Given the description of an element on the screen output the (x, y) to click on. 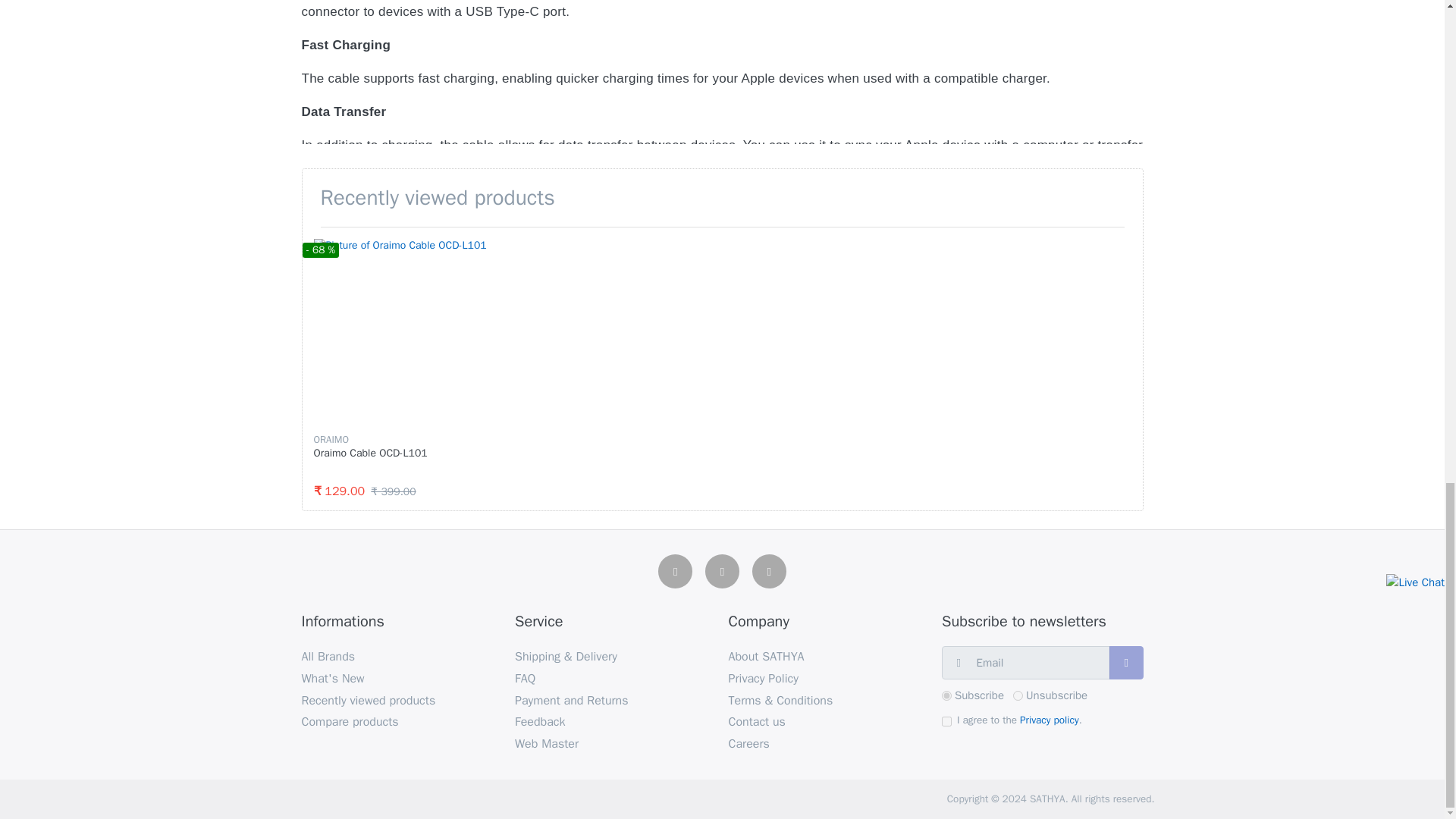
true (947, 721)
newsletter-unsubscribe (1018, 696)
newsletter-subscribe (947, 696)
Oraimo Cable OCD-L101 (371, 452)
Show details for Oraimo Cable OCD-L101 (406, 332)
